Given the description of an element on the screen output the (x, y) to click on. 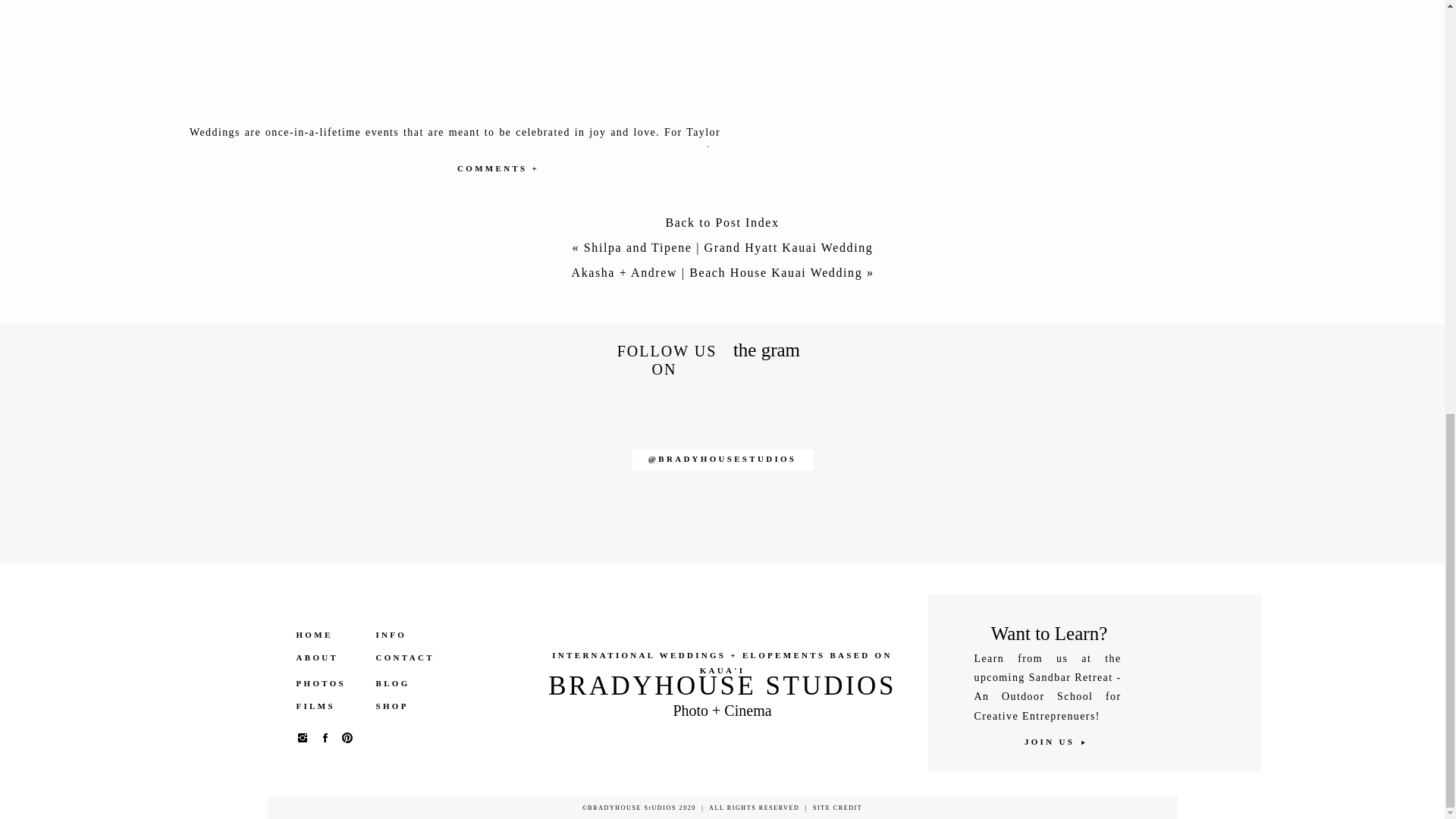
FILMS (327, 706)
Luxe Events Hawaii (339, 639)
Back to Post Index (721, 226)
Bradyhouse Studios (408, 601)
ABOUT (327, 657)
HOME (327, 635)
National Tropical Botanical Garden (322, 620)
PHOTOS (327, 683)
INFO (400, 635)
